Given the description of an element on the screen output the (x, y) to click on. 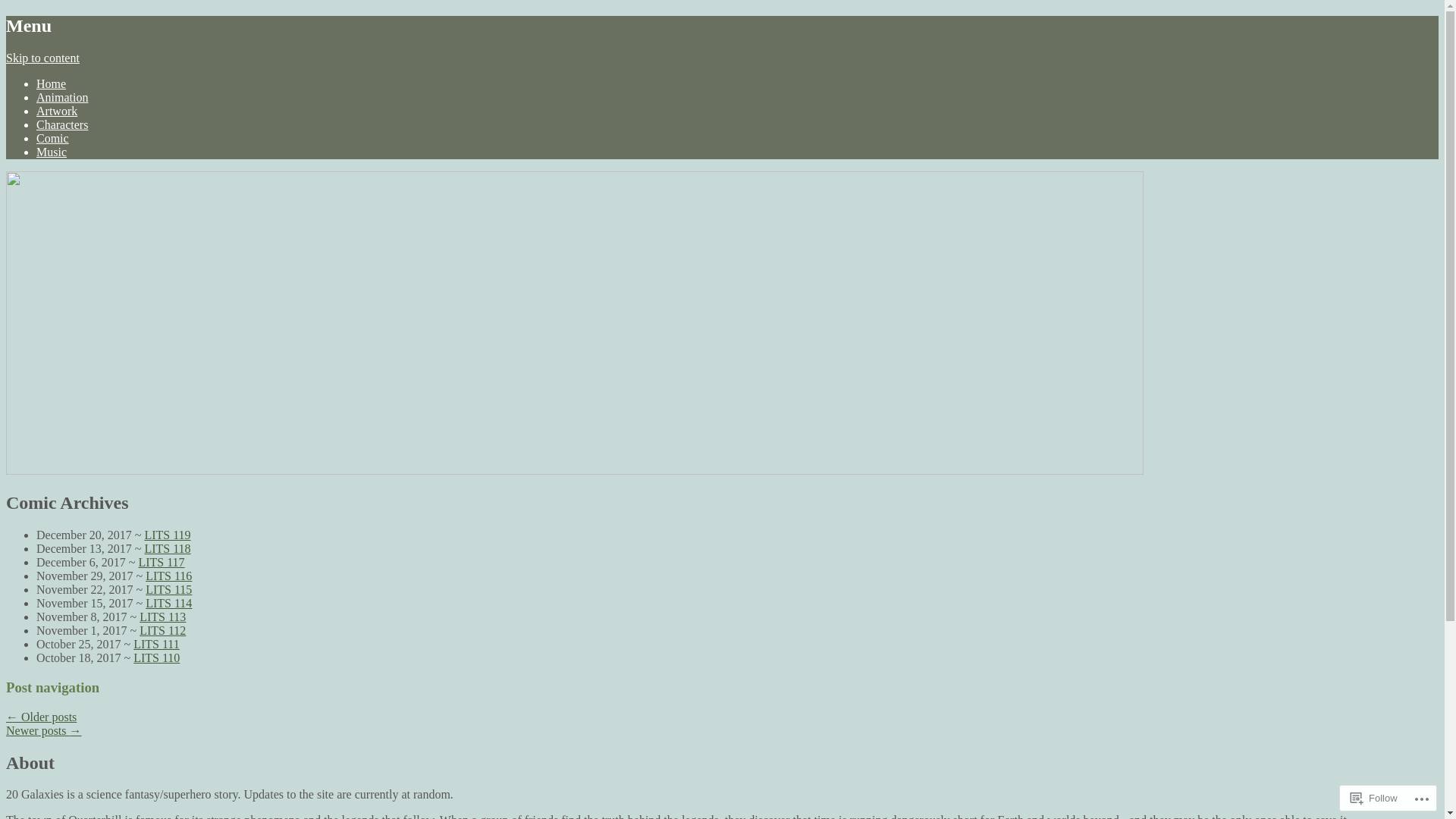
LITS 116 Element type: text (168, 575)
Home Element type: text (50, 83)
LITS 119 Element type: text (167, 534)
Animation Element type: text (61, 97)
LITS 117 Element type: text (161, 561)
LITS 115 Element type: text (168, 589)
LITS 110 Element type: text (156, 657)
LITS 111 Element type: text (156, 643)
LITS 118 Element type: text (167, 548)
Comic Element type: text (52, 137)
Skip to content Element type: text (42, 57)
Artwork Element type: text (56, 110)
LITS 114 Element type: text (168, 602)
Characters Element type: text (61, 124)
Music Element type: text (51, 151)
Follow Element type: text (1373, 797)
LITS 113 Element type: text (162, 616)
LITS 112 Element type: text (162, 630)
